Given the description of an element on the screen output the (x, y) to click on. 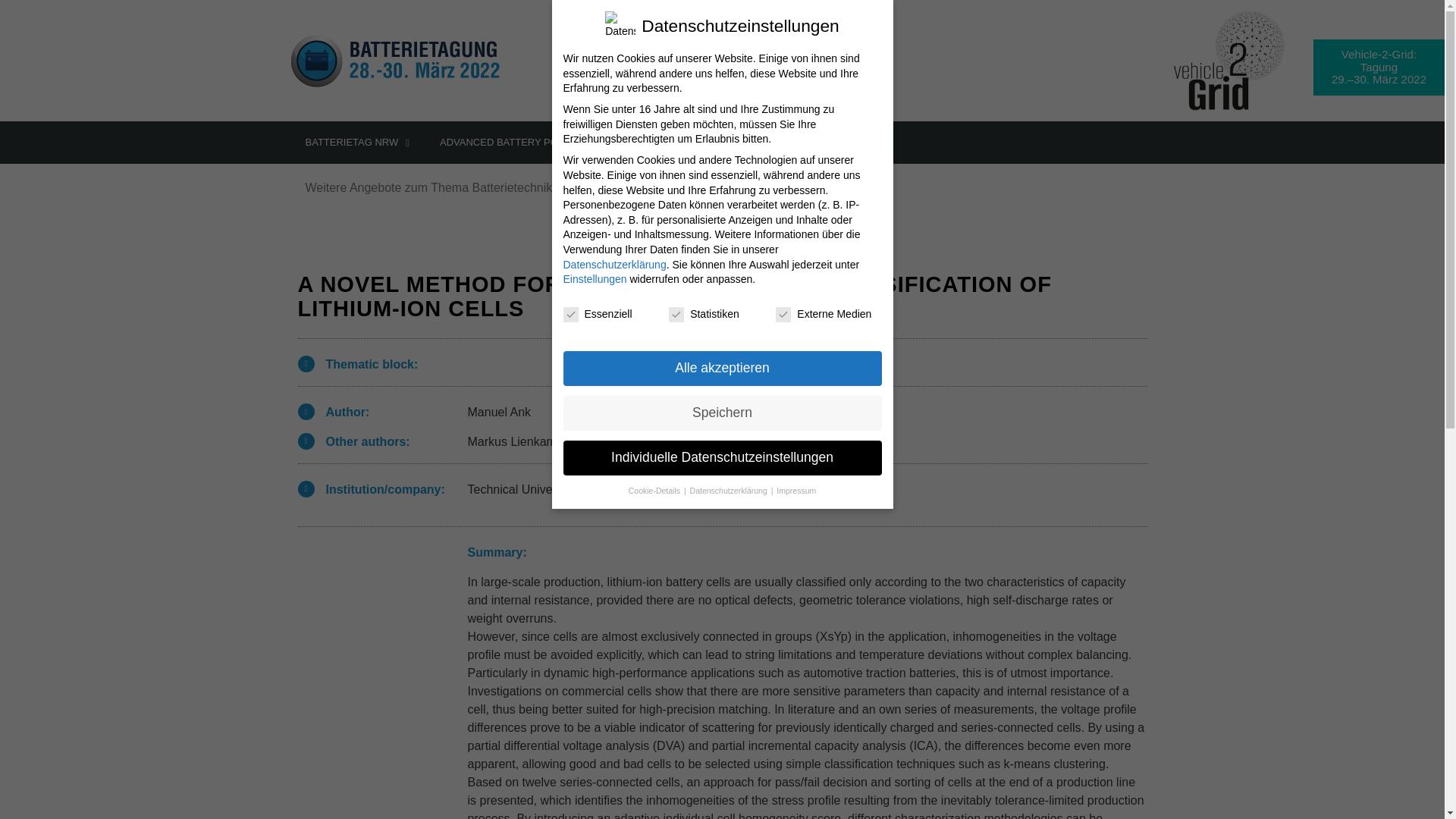
BATTERIETAG NRW (357, 142)
AUSSTELLUNG (663, 142)
ADVANCED BATTERY POWER (516, 142)
AKTUELLE TAGUNG (782, 142)
